Given the description of an element on the screen output the (x, y) to click on. 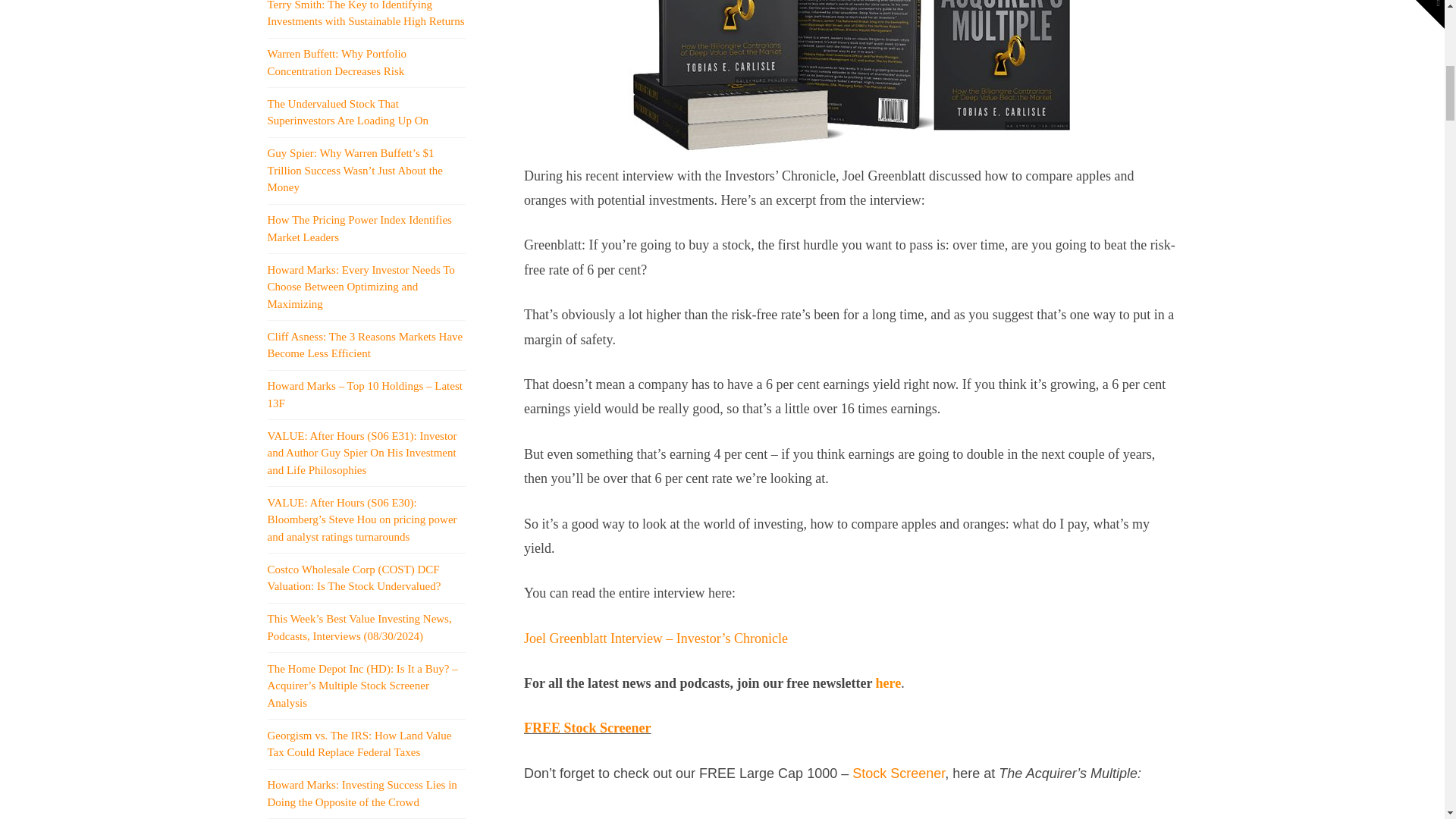
Stock Screener (897, 773)
here (888, 683)
FREE Stock Screener (587, 727)
